Given the description of an element on the screen output the (x, y) to click on. 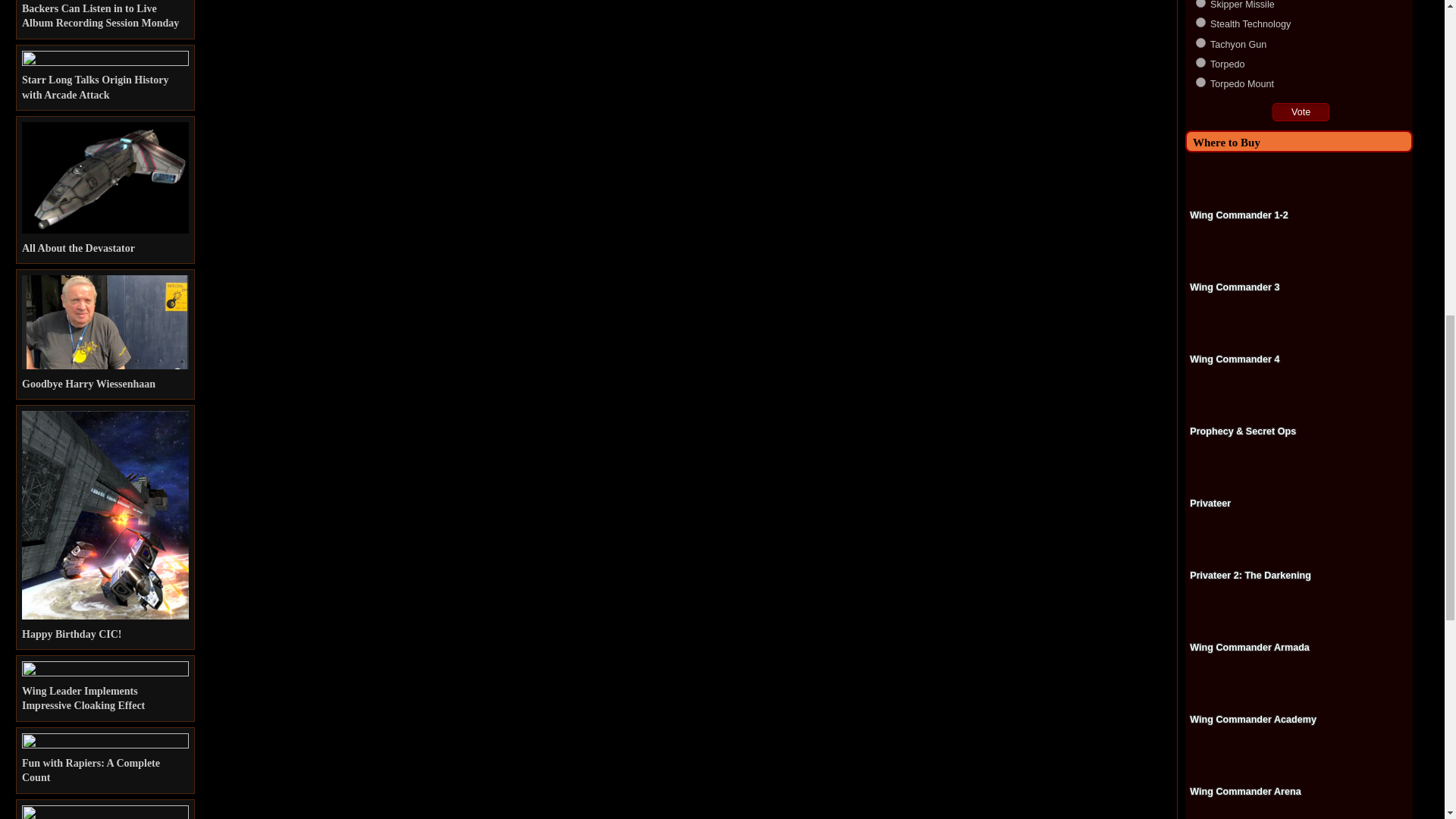
11 (1200, 81)
10 (1200, 62)
Vote (1300, 112)
9 (1200, 42)
7 (1200, 3)
8 (1200, 22)
